Given the description of an element on the screen output the (x, y) to click on. 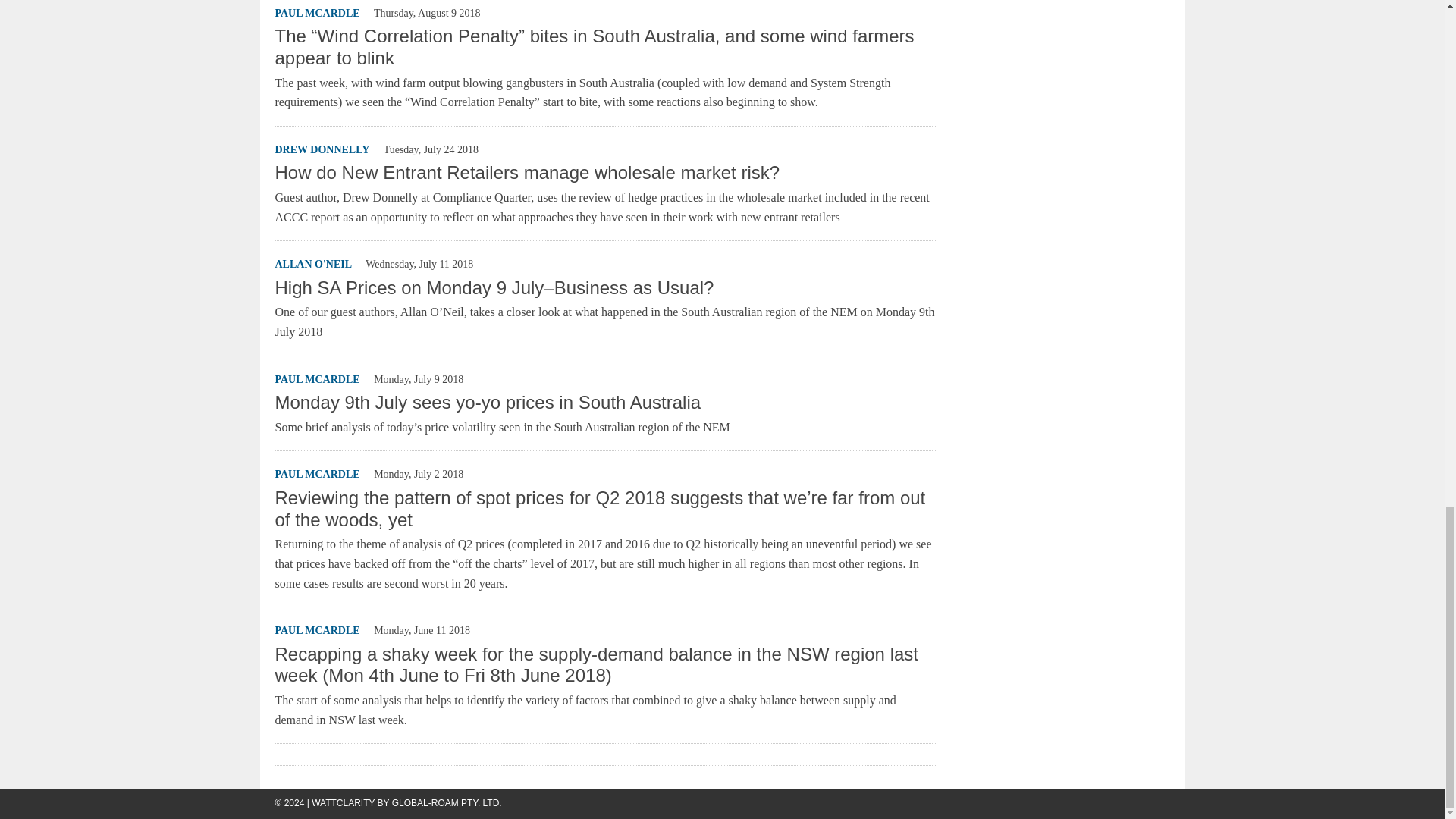
DREW DONNELLY (322, 149)
ALLAN O'NEIL (313, 264)
How do New Entrant Retailers manage wholesale market risk? (526, 172)
Monday 9th July sees yo-yo prices in South Australia (487, 402)
How do New Entrant Retailers manage wholesale market risk? (526, 172)
PAUL MCARDLE (317, 12)
